Given the description of an element on the screen output the (x, y) to click on. 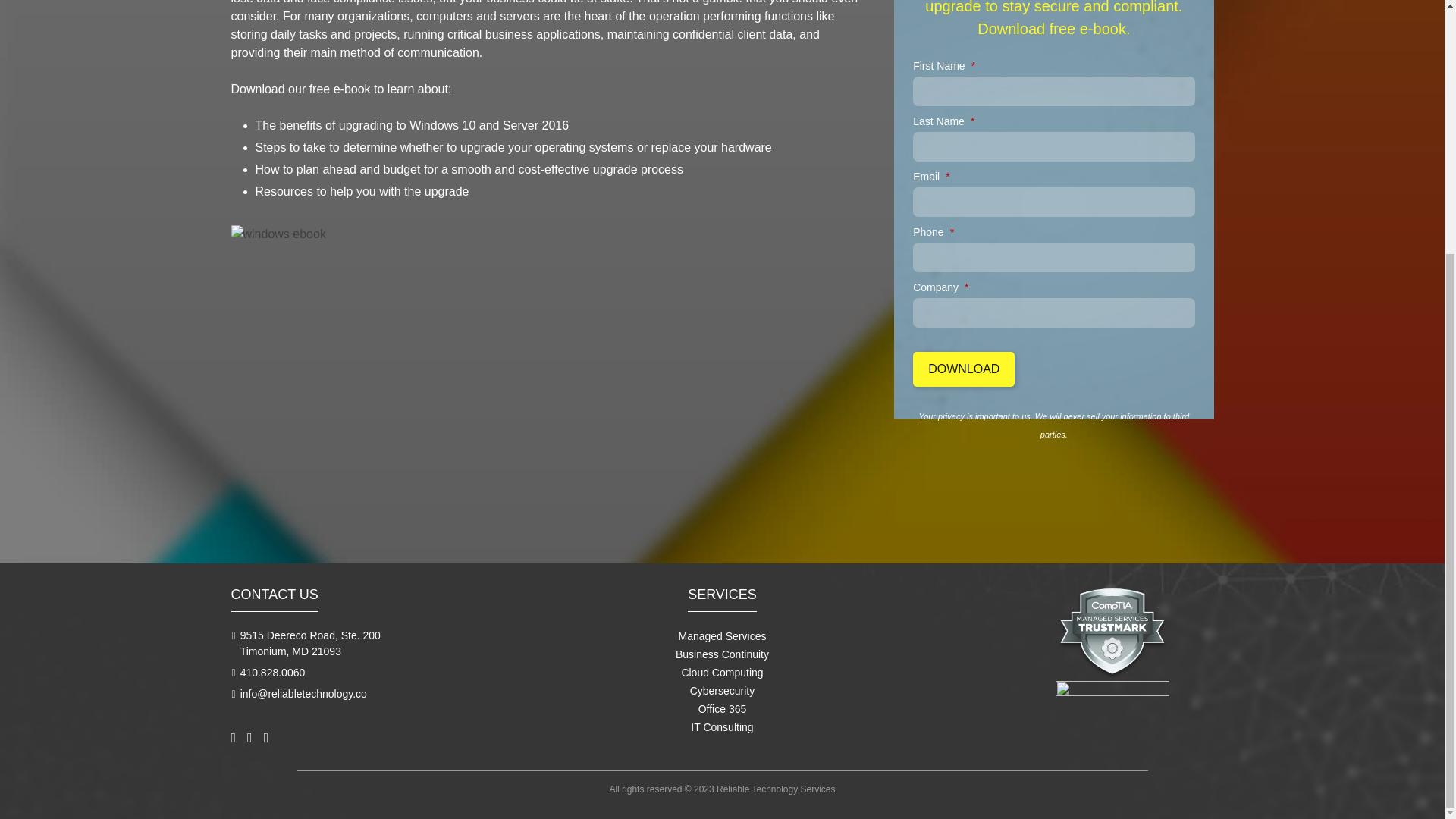
Office 365 (722, 708)
410.828.0060 (272, 672)
Business Continuity (721, 654)
9515 Deereco Road, Ste. 200 (310, 635)
Cloud Computing (721, 672)
IT Consulting (721, 727)
Download (963, 369)
Download (963, 369)
Managed Services (721, 635)
Cybersecurity (722, 690)
